Given the description of an element on the screen output the (x, y) to click on. 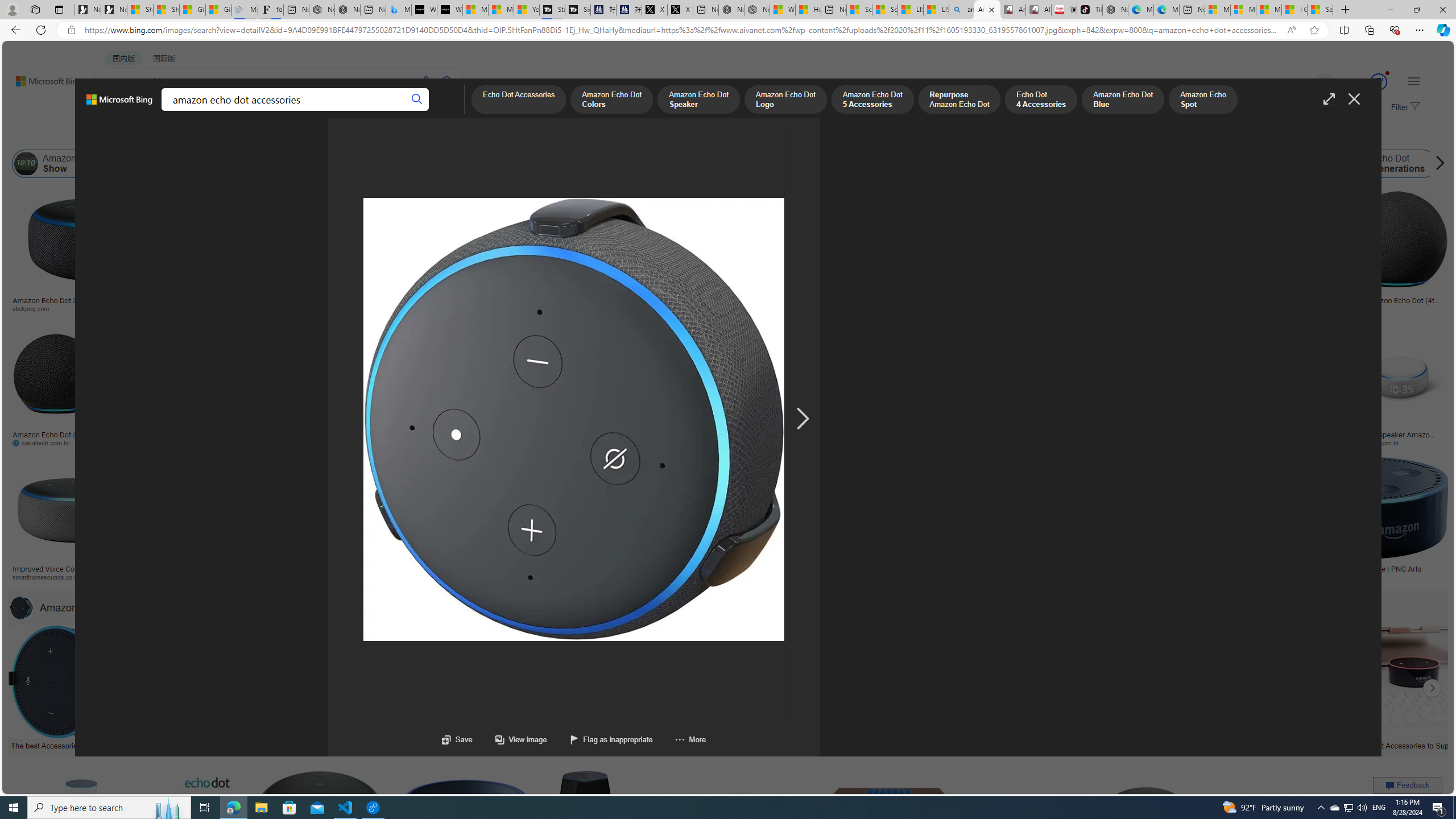
Android Central (396, 576)
buynow.com.ec (635, 442)
pngarts.com (1366, 576)
Amazon Echo Dot Accessories (95, 607)
Amazon Echo Dot Png 542 Download (783, 303)
Smart Speaker Alexa Echo Dot (565, 296)
